Given the description of an element on the screen output the (x, y) to click on. 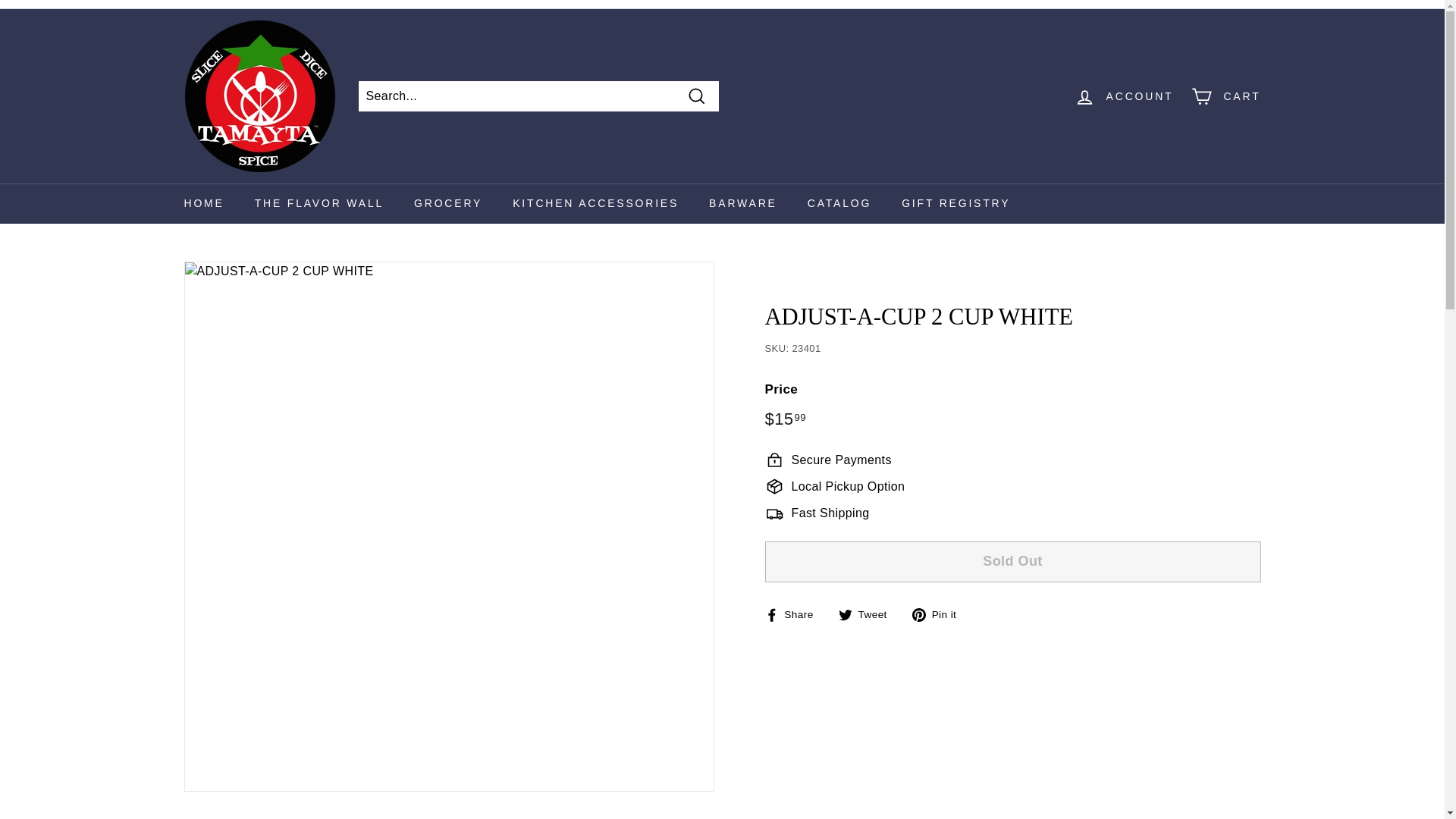
Pin on Pinterest (940, 614)
CATALOG (839, 203)
Share on Facebook (794, 614)
Tweet on Twitter (868, 614)
GROCERY (447, 203)
KITCHEN ACCESSORIES (595, 203)
ACCOUNT (1123, 96)
GIFT REGISTRY (955, 203)
HOME (203, 203)
BARWARE (743, 203)
THE FLAVOR WALL (319, 203)
